Given the description of an element on the screen output the (x, y) to click on. 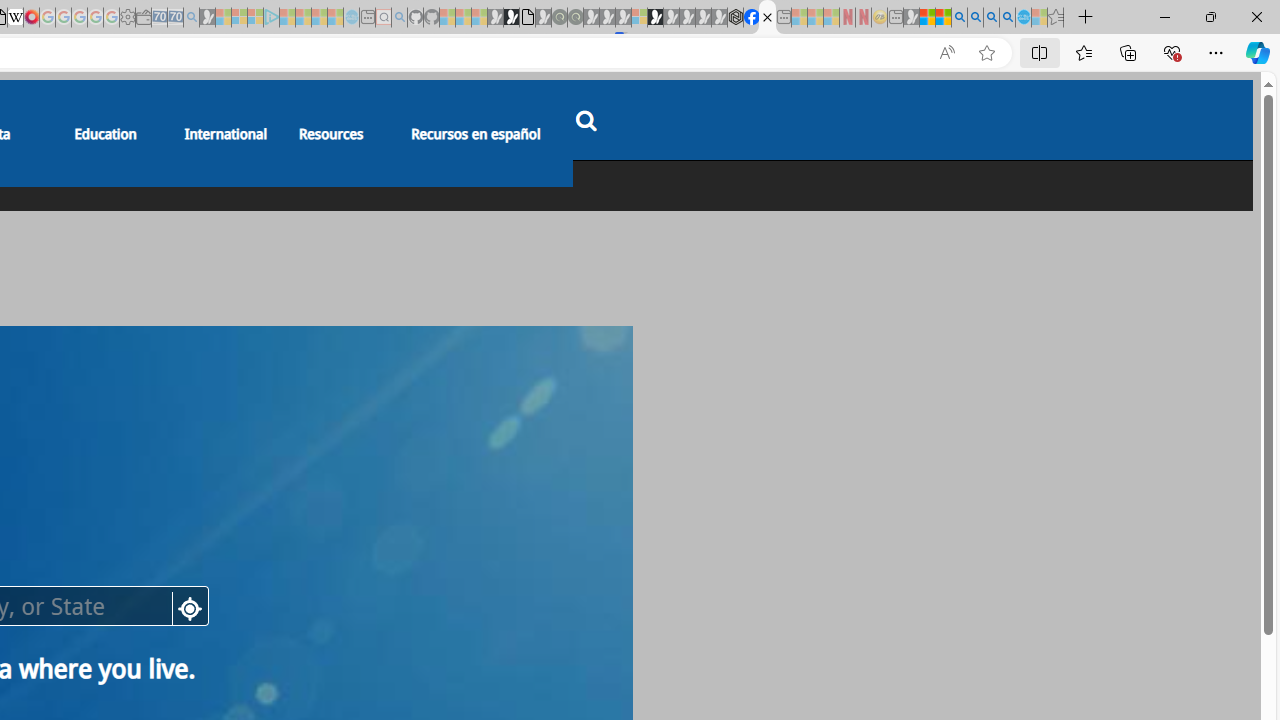
MediaWiki (31, 17)
Nordace - Cooler Bags (735, 17)
ZIP Code, City, or State (436, 186)
